Given the description of an element on the screen output the (x, y) to click on. 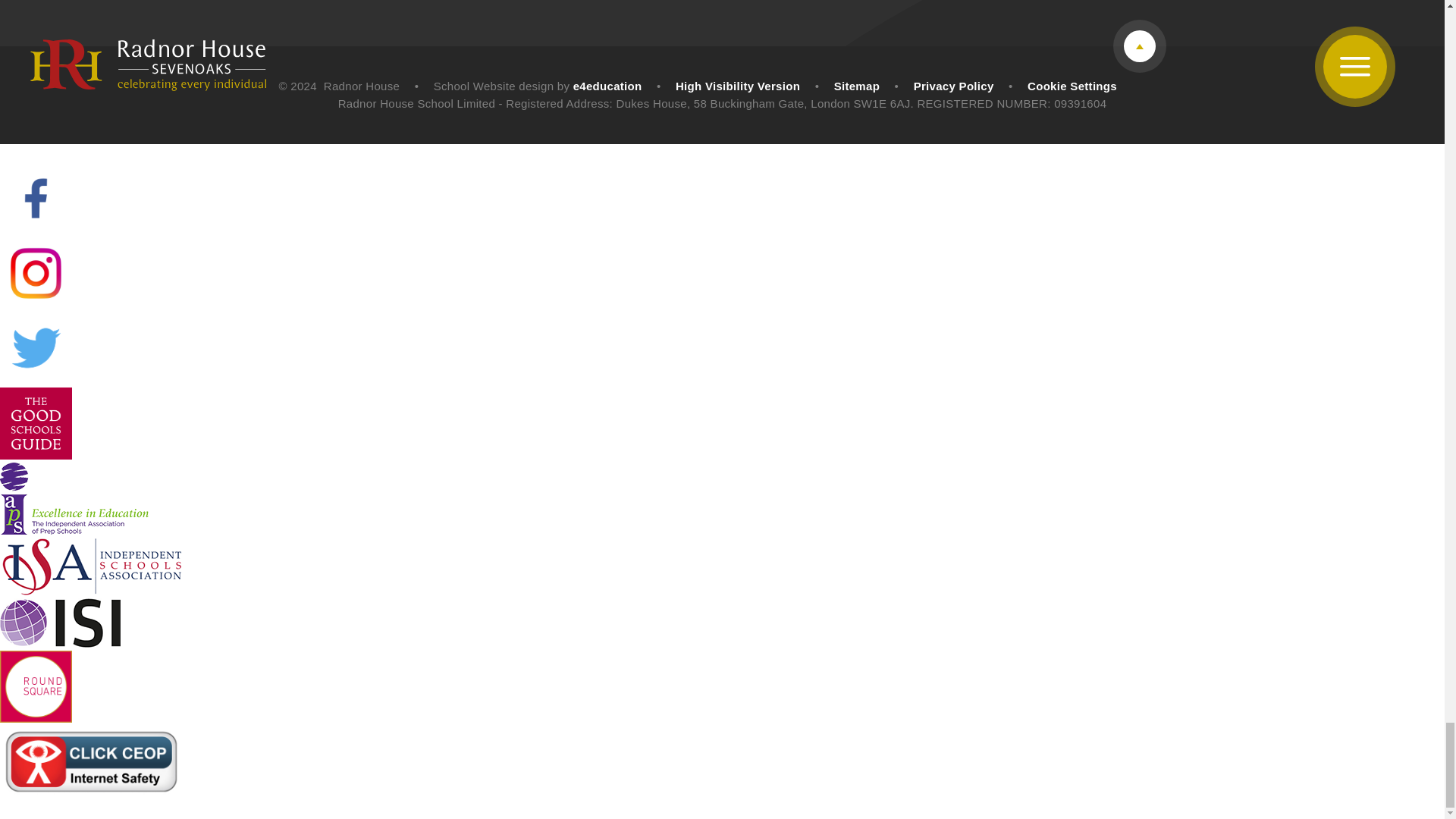
Good Schools Guide (35, 423)
CEOP (91, 761)
Twitter (35, 348)
Round Square (35, 686)
Instagram (35, 273)
IAPS (74, 498)
Cookie Settings (1071, 85)
Facebook (35, 198)
ISA (91, 566)
